Given the description of an element on the screen output the (x, y) to click on. 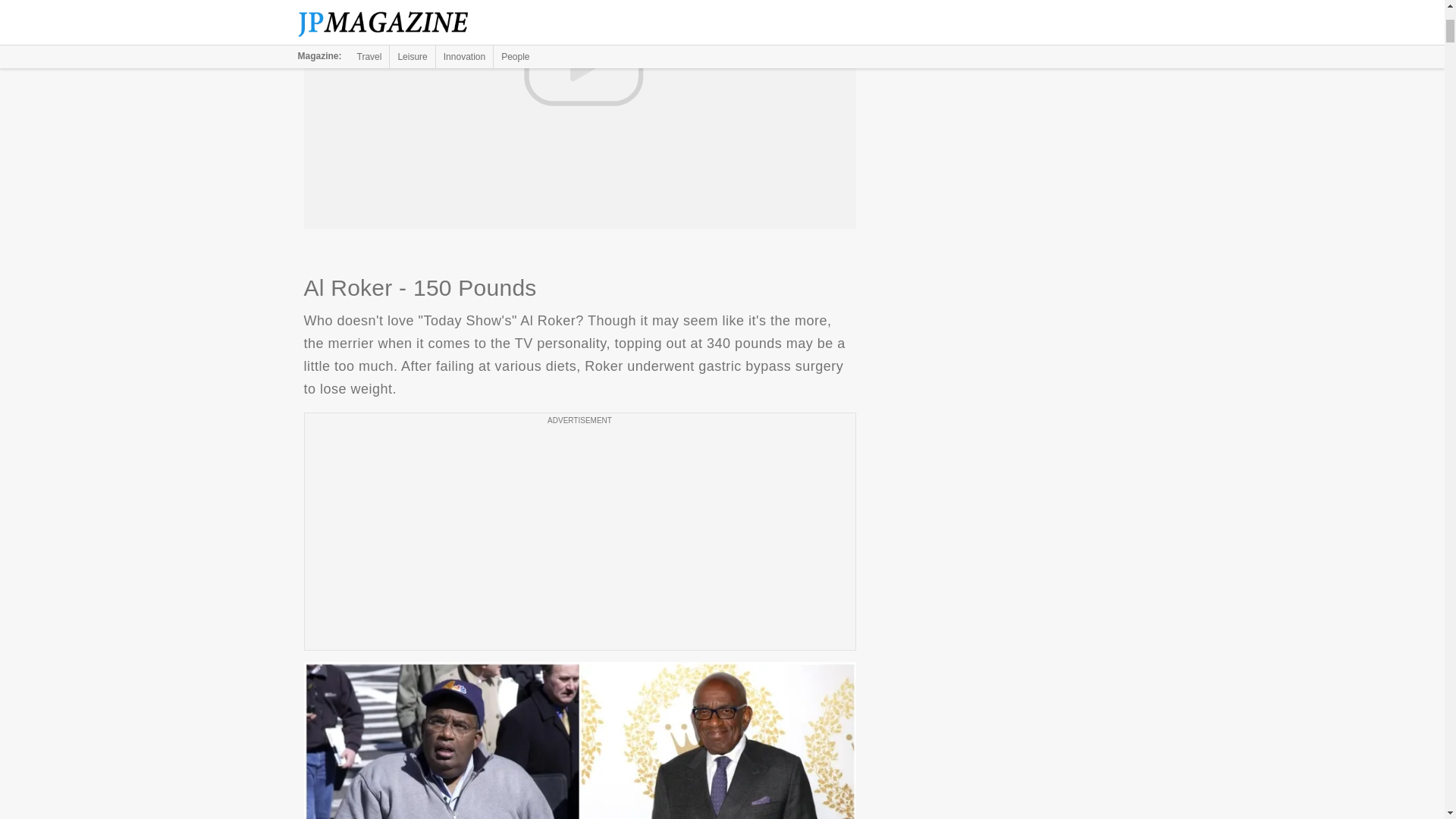
Al Roker - 150 Pounds (579, 740)
